Given the description of an element on the screen output the (x, y) to click on. 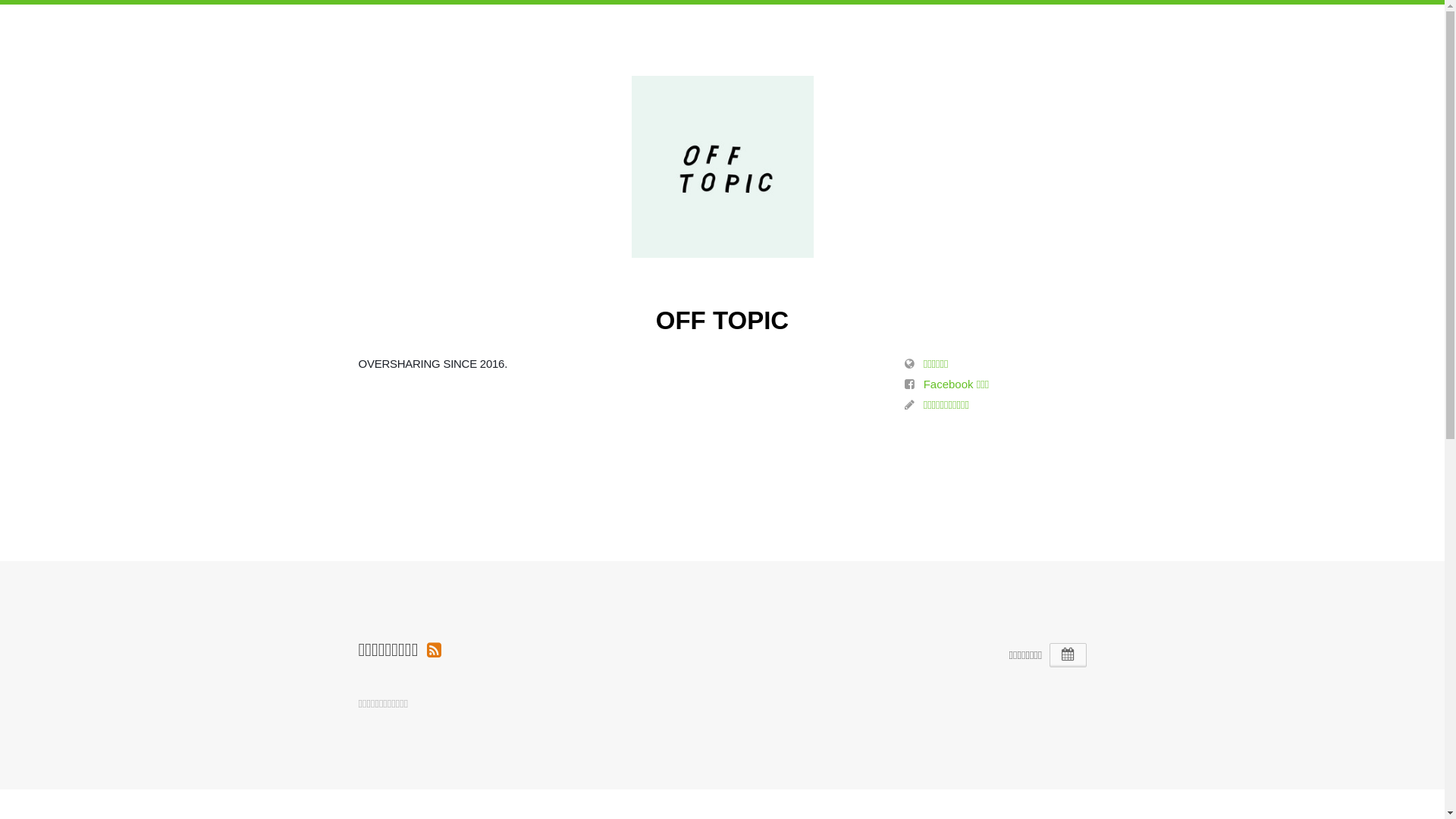
Organization Events RSS Element type: hover (433, 649)
